Given the description of an element on the screen output the (x, y) to click on. 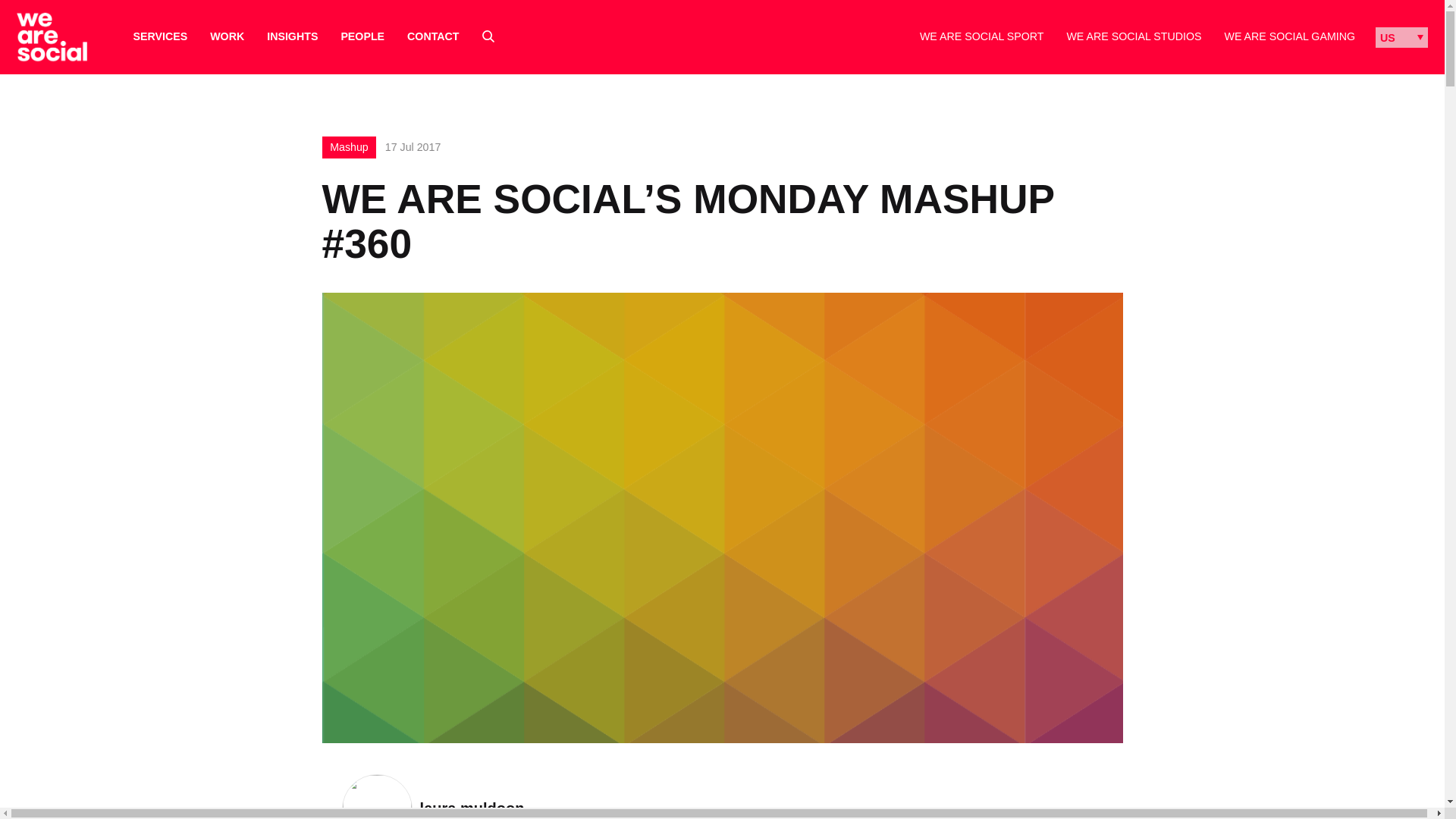
Select to toggle search form (488, 36)
WE ARE SOCIAL SPORT (981, 36)
INSIGHTS (291, 36)
WORK (226, 36)
CONTACT (432, 36)
Contact (432, 36)
SERVICES (160, 36)
Insights (291, 36)
PEOPLE (362, 36)
WE ARE SOCIAL GAMING (1289, 36)
Work (226, 36)
WE ARE SOCIAL STUDIOS (1133, 36)
